Given the description of an element on the screen output the (x, y) to click on. 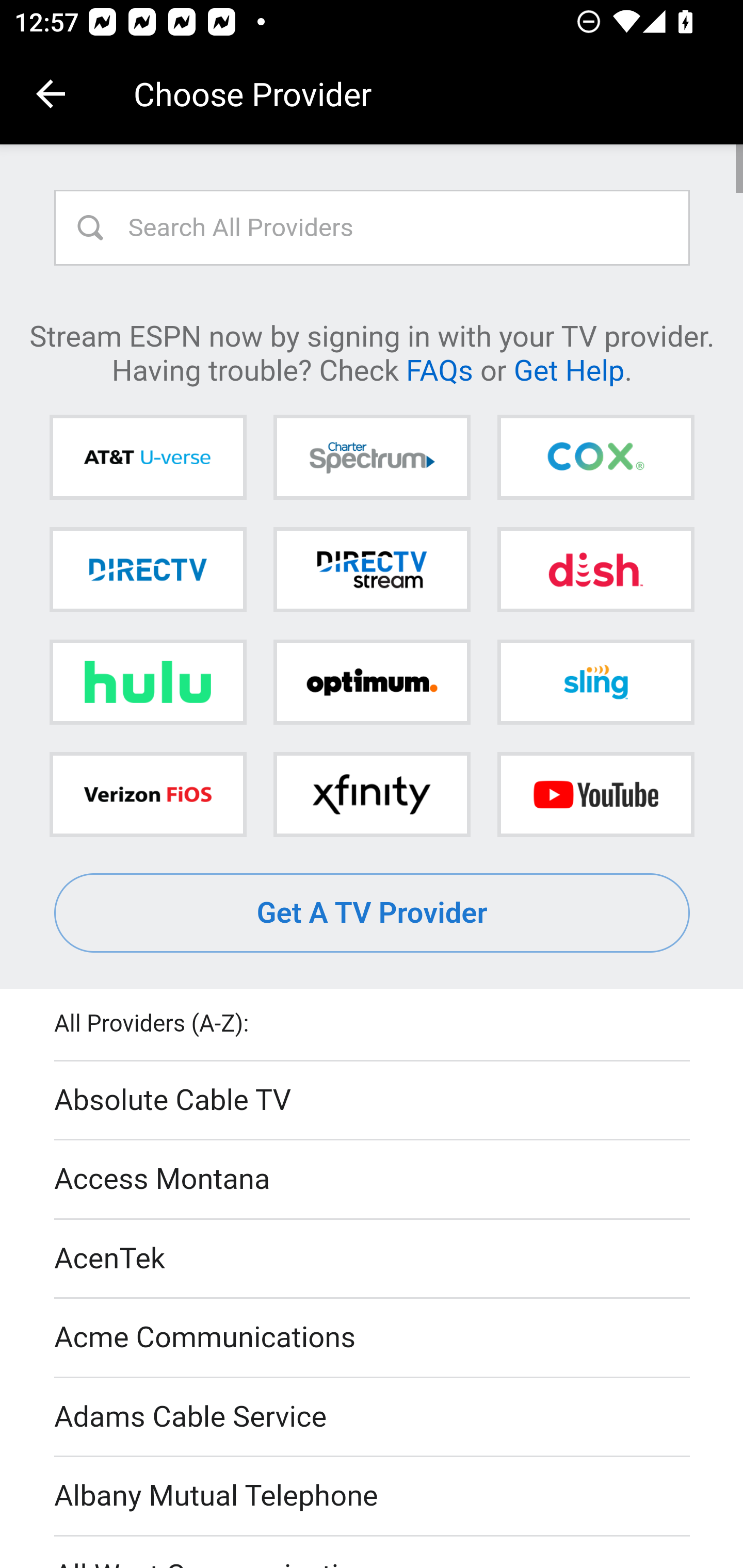
Navigate up (50, 93)
FAQs (438, 369)
Get Help (569, 369)
AT&T U-verse (147, 457)
Charter Spectrum (371, 457)
Cox (595, 457)
DIRECTV (147, 568)
DIRECTV STREAM (371, 568)
DISH (595, 568)
Hulu (147, 681)
Optimum (371, 681)
Sling TV (595, 681)
Verizon FiOS (147, 793)
Xfinity (371, 793)
YouTube TV (595, 793)
Get A TV Provider (372, 912)
Absolute Cable TV (372, 1100)
Access Montana (372, 1178)
AcenTek (372, 1258)
Acme Communications (372, 1338)
Adams Cable Service (372, 1417)
Albany Mutual Telephone (372, 1497)
